Given the description of an element on the screen output the (x, y) to click on. 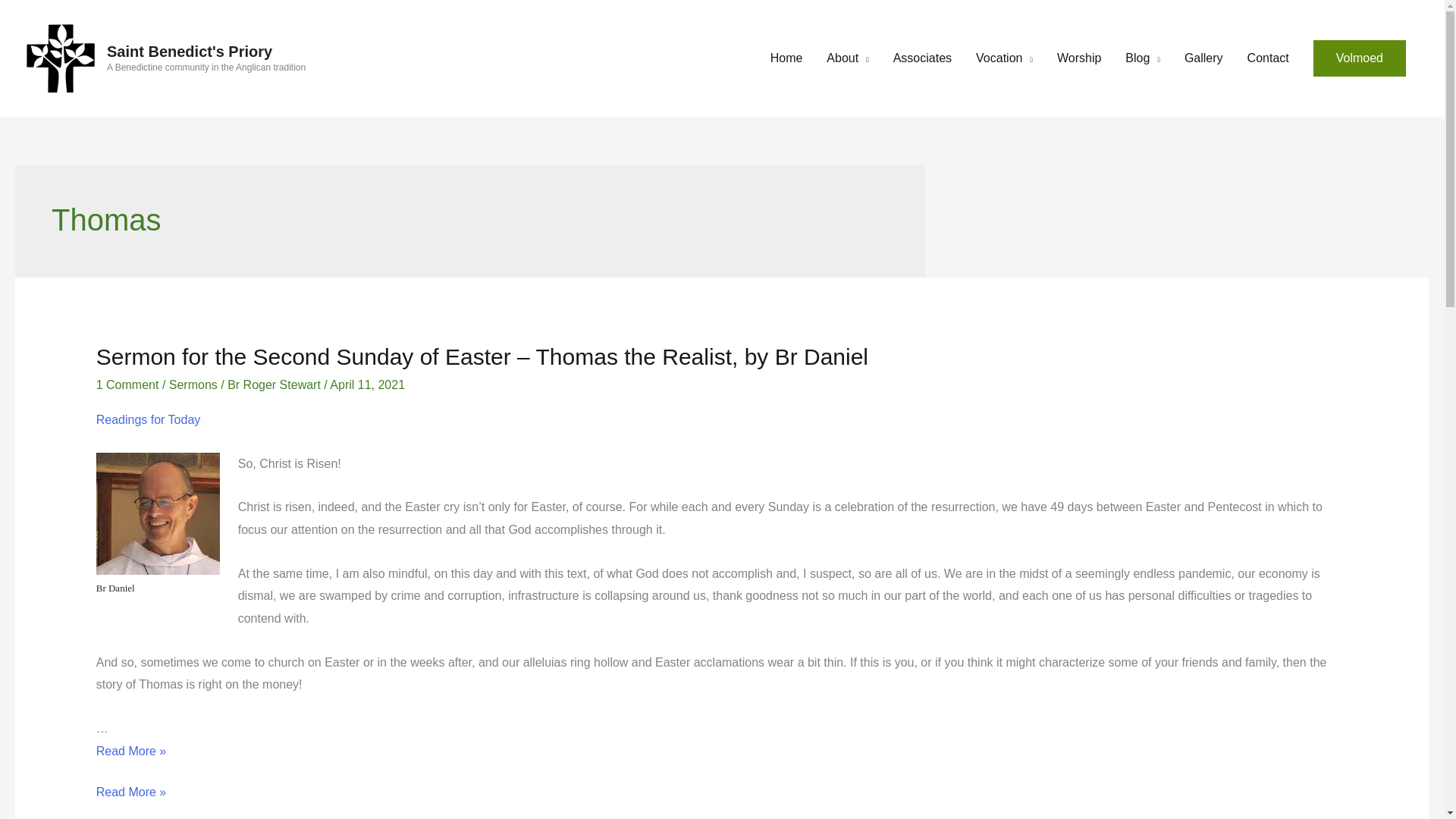
Contact (1267, 58)
1 Comment (127, 384)
Home (786, 58)
Associates (921, 58)
Vocation (1004, 58)
Worship (1079, 58)
Sermons (192, 384)
Saint Benedict's Priory (189, 51)
Blog (1142, 58)
Br Roger Stewart (275, 384)
